Given the description of an element on the screen output the (x, y) to click on. 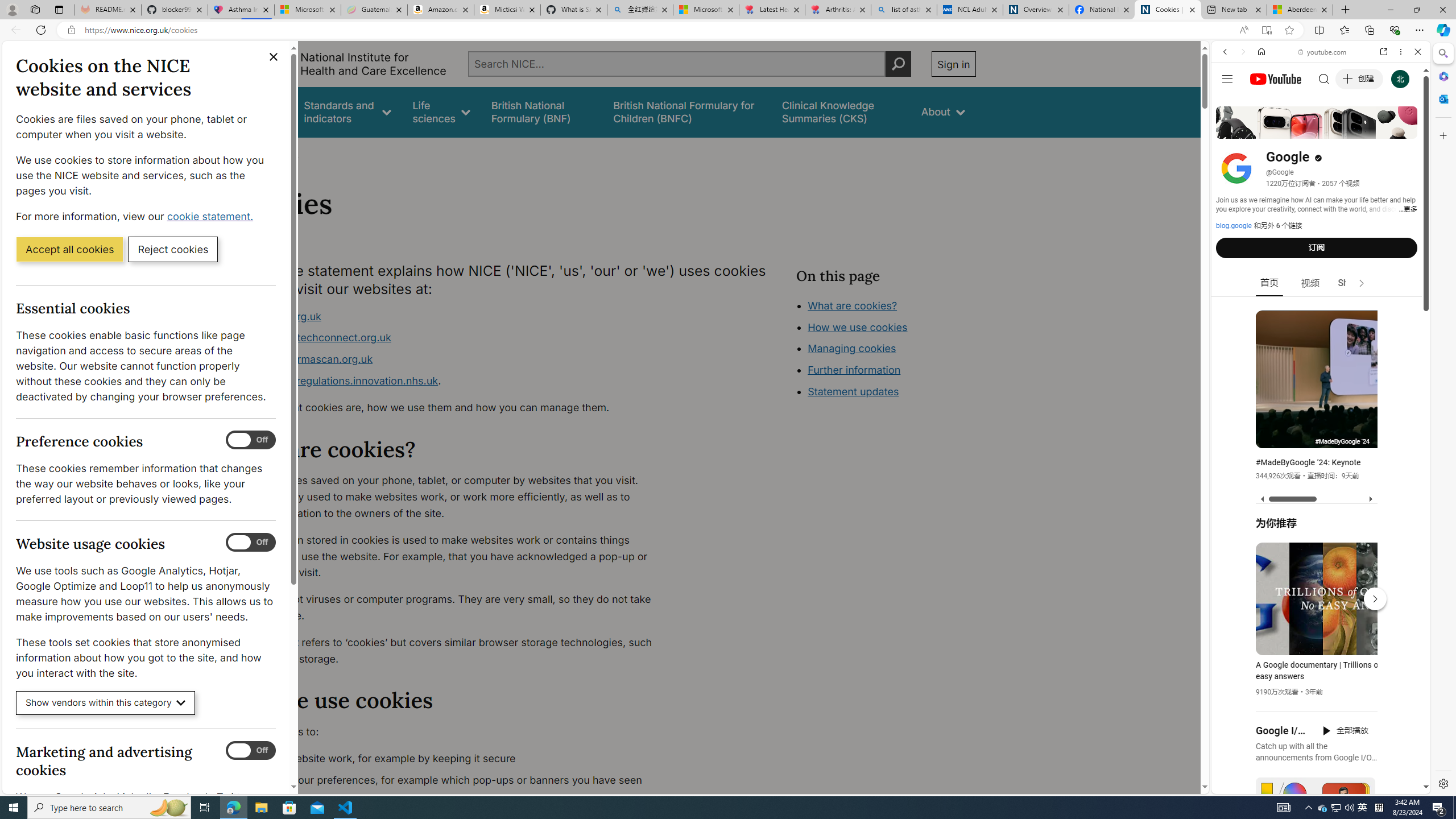
Reject cookies (173, 248)
www.digitalregulations.innovation.nhs.uk. (452, 380)
SEARCH TOOLS (1350, 130)
you (1315, 755)
#you (1315, 659)
Marketing and advertising cookies (250, 750)
www.nice.org.uk (279, 315)
How we use cookies (857, 327)
YouTube - YouTube (1315, 560)
Arthritis: Ask Health Professionals (838, 9)
